Given the description of an element on the screen output the (x, y) to click on. 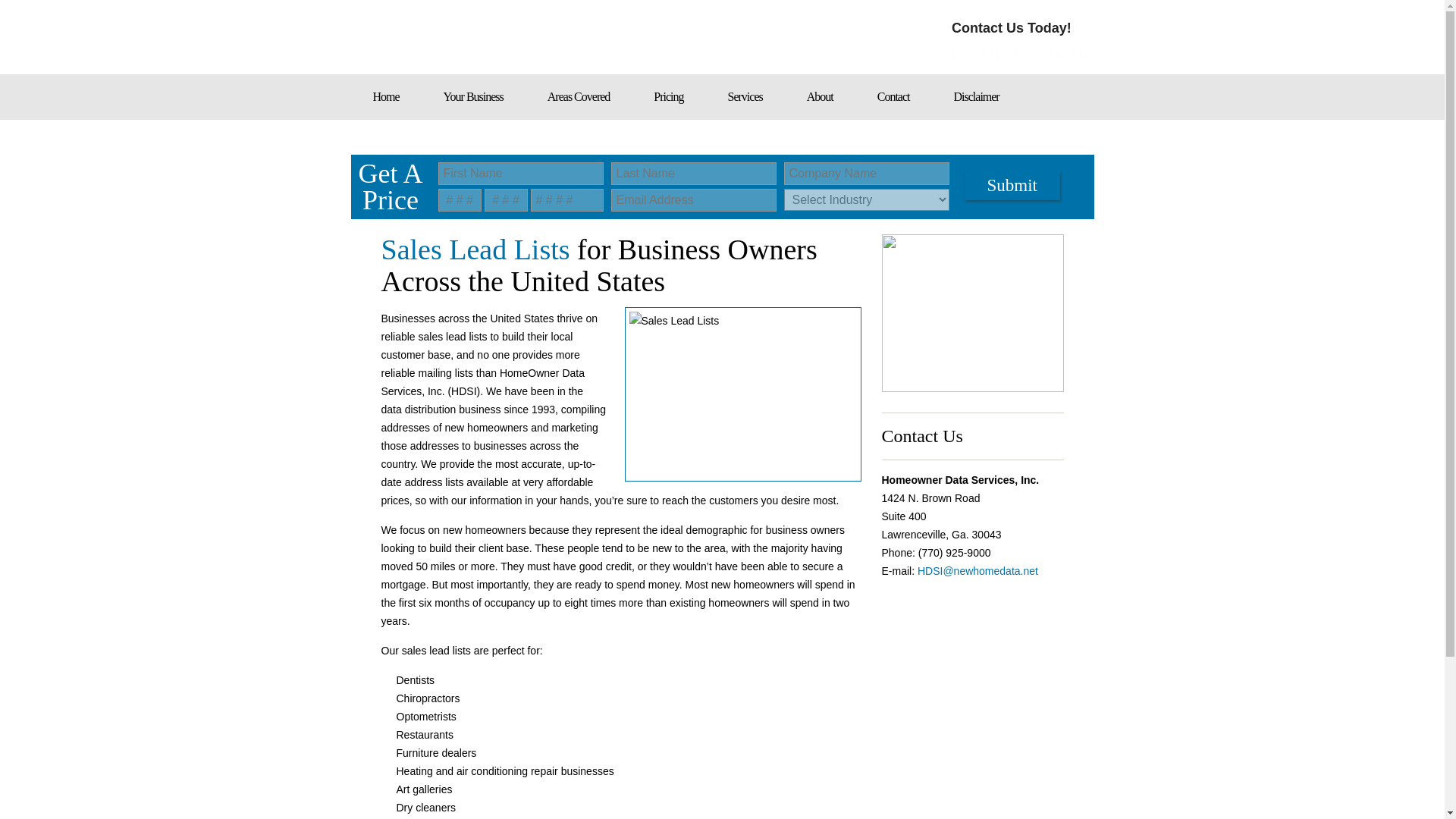
Services (745, 96)
About (820, 96)
Submit (1011, 185)
Disclaimer (975, 96)
Home (385, 96)
Pricing (667, 96)
Your Business (473, 96)
Sales Lead Lists (742, 394)
Areas Covered (578, 96)
Contact (893, 96)
